Given the description of an element on the screen output the (x, y) to click on. 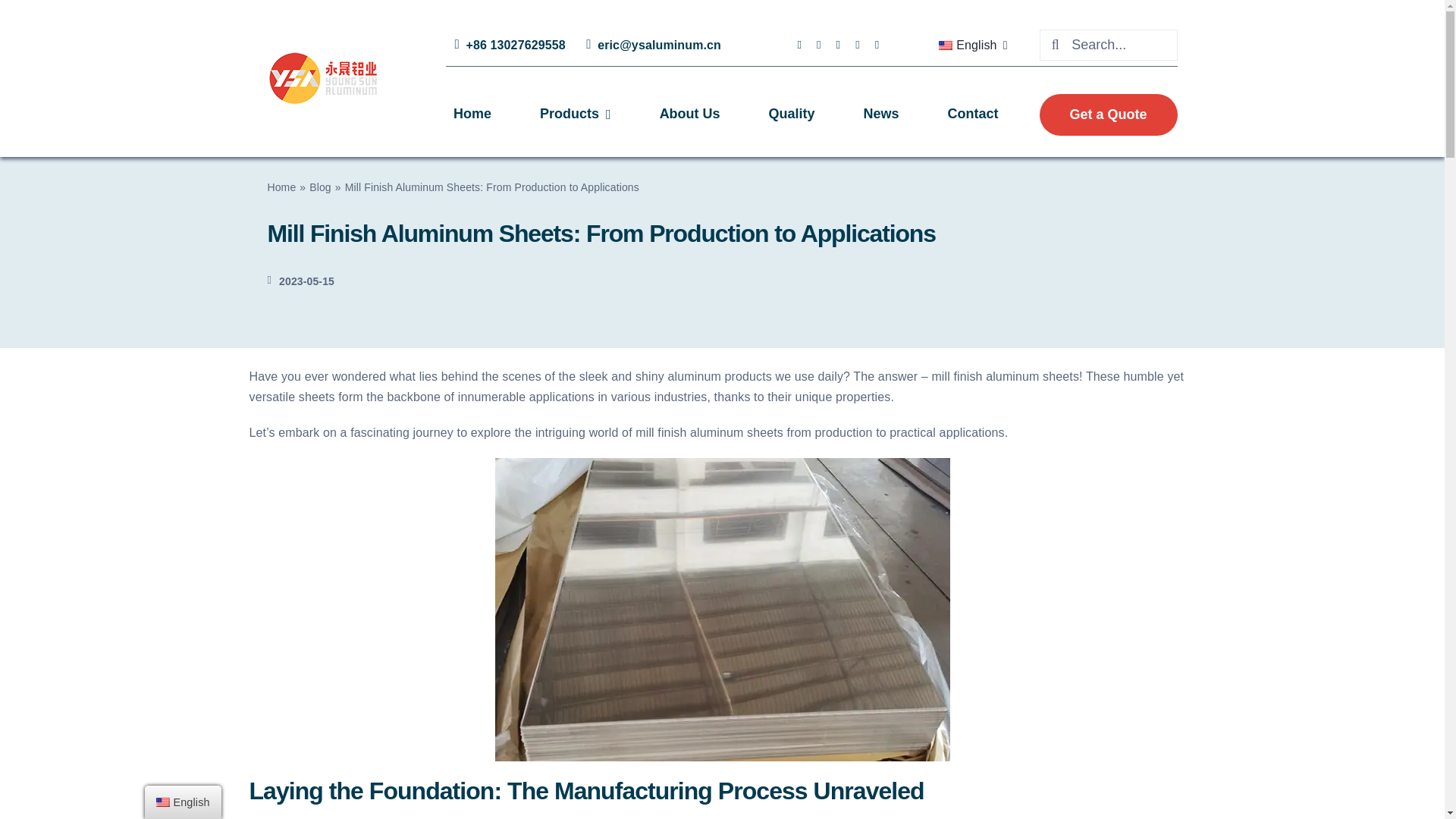
Home (472, 114)
Contact (973, 114)
Products (575, 114)
About Us (690, 114)
Quality (791, 114)
News (881, 114)
Get a Quote (1108, 114)
English (945, 44)
English (970, 45)
